Given the description of an element on the screen output the (x, y) to click on. 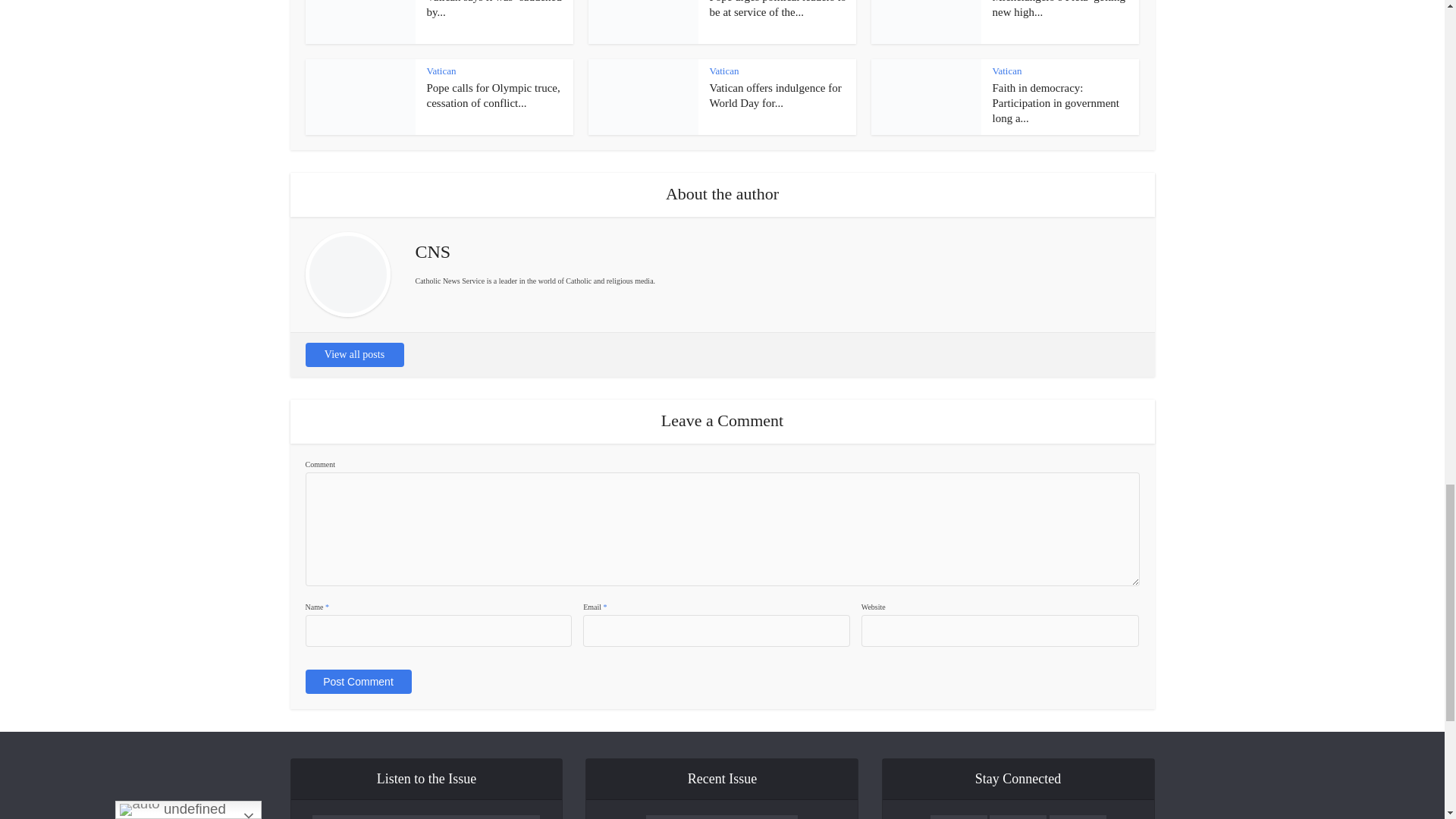
Post Comment (357, 681)
